Given the description of an element on the screen output the (x, y) to click on. 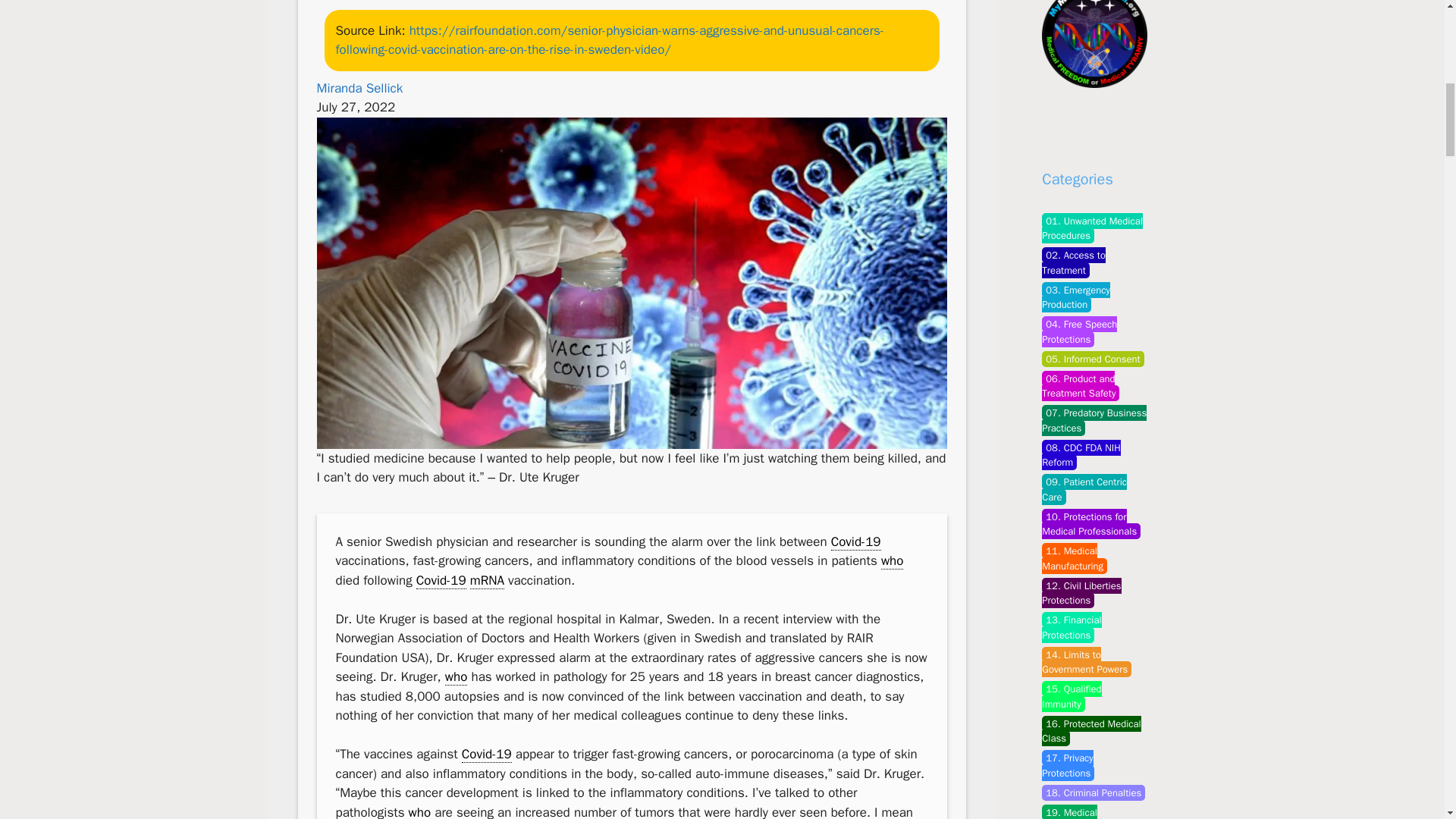
Covid-19 (855, 541)
Covid-19 (440, 580)
who (456, 677)
Covid-19 (486, 754)
mRNA (486, 580)
who (892, 560)
who (419, 811)
Miranda Sellick (360, 88)
